Given the description of an element on the screen output the (x, y) to click on. 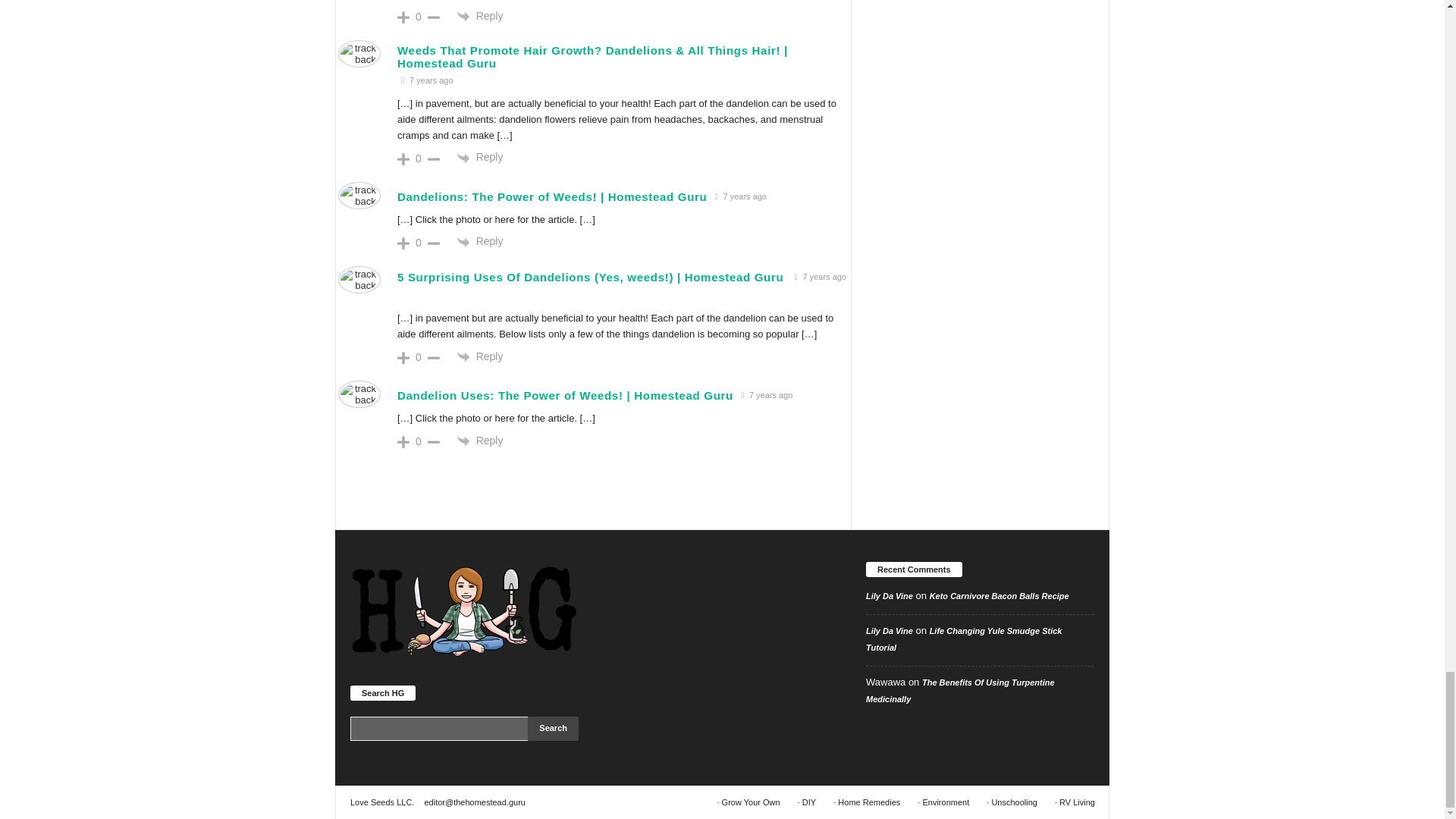
Search (552, 728)
